Given the description of an element on the screen output the (x, y) to click on. 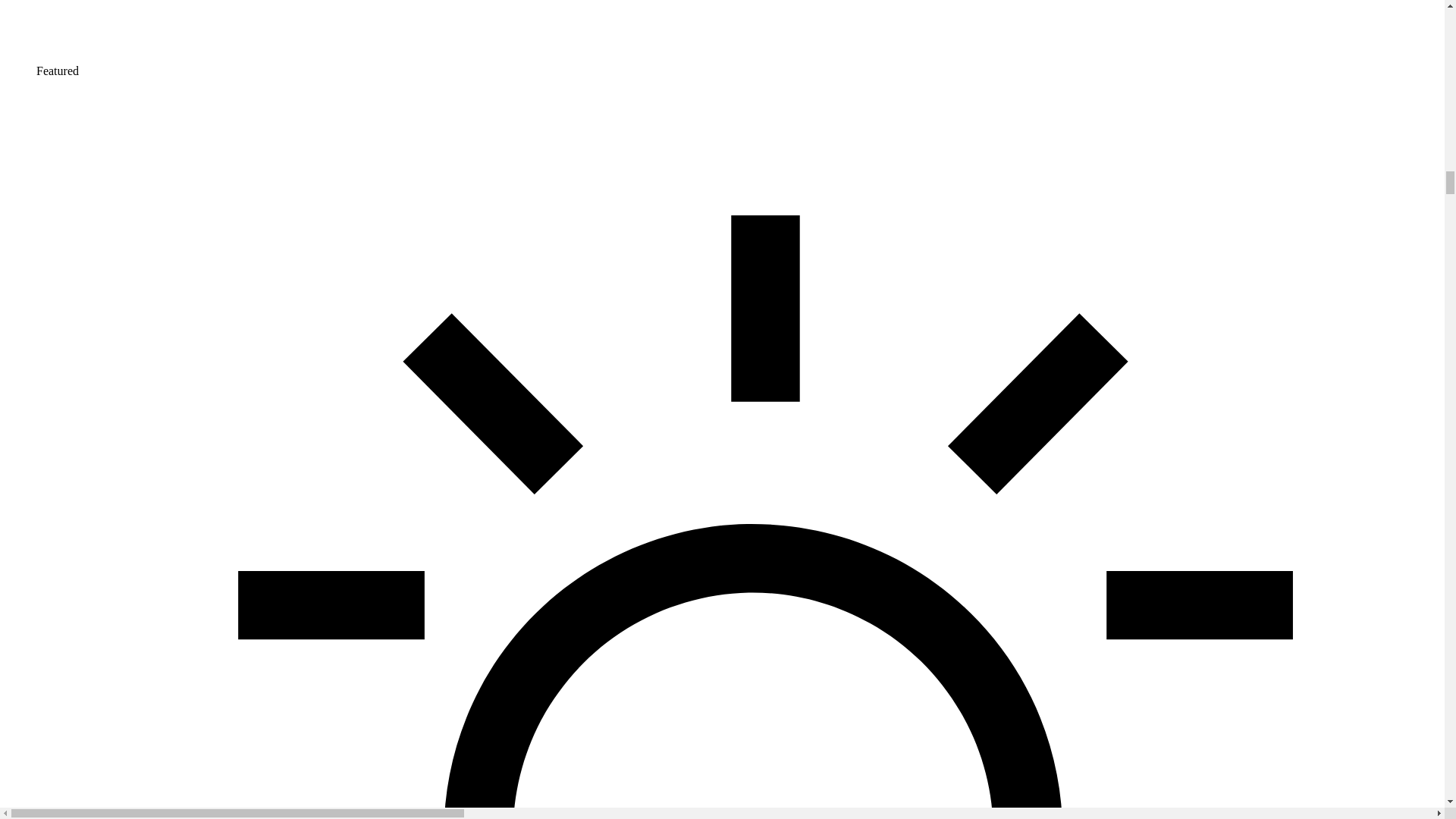
Solutions (737, 31)
